Given the description of an element on the screen output the (x, y) to click on. 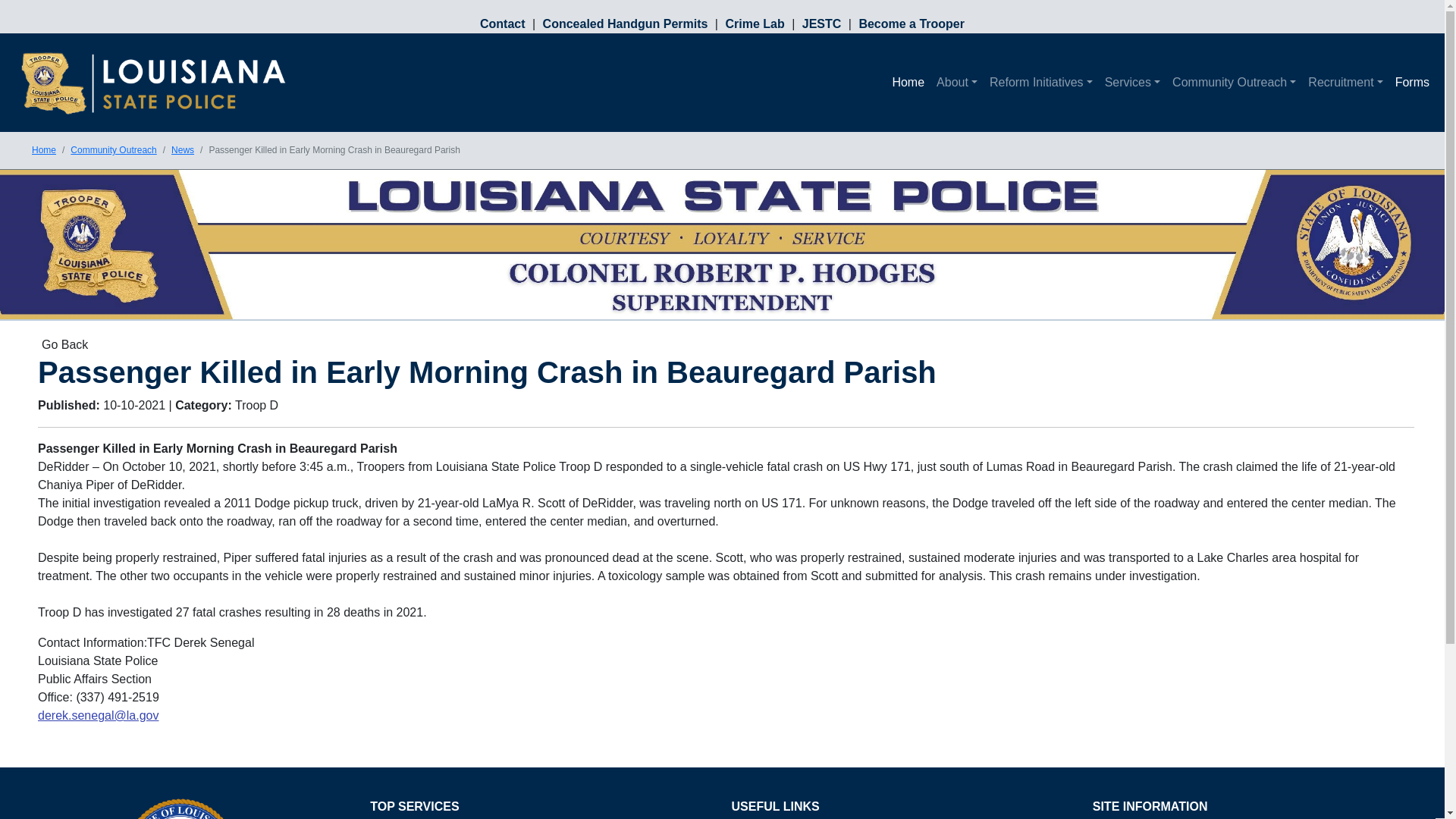
Home (907, 82)
Crime Lab (756, 23)
Concealed Handgun Permits (626, 23)
Contact (506, 23)
Become a Trooper (908, 23)
About (957, 82)
JESTC (822, 23)
Crime Lab (756, 23)
Joint Emergency Services Training Center (822, 23)
Become a Trooper (908, 23)
